Given the description of an element on the screen output the (x, y) to click on. 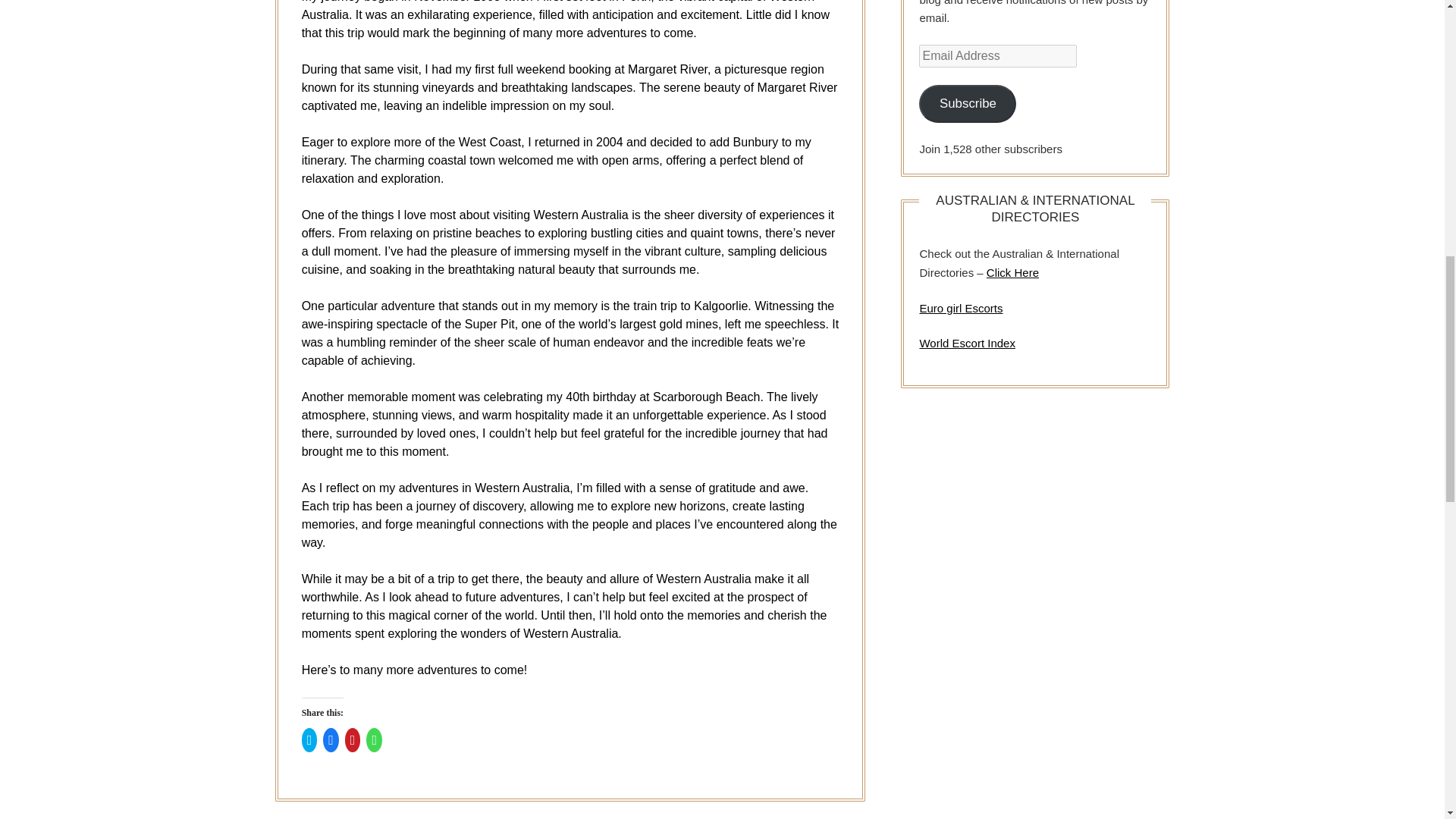
Click to share on Facebook (331, 740)
Click to share on WhatsApp (373, 740)
Click Here (1013, 272)
Subscribe (967, 104)
Euro girl Escorts (960, 308)
Click to share on Pinterest (353, 740)
Click to share on Twitter (309, 740)
World Escort Index (966, 342)
